Given the description of an element on the screen output the (x, y) to click on. 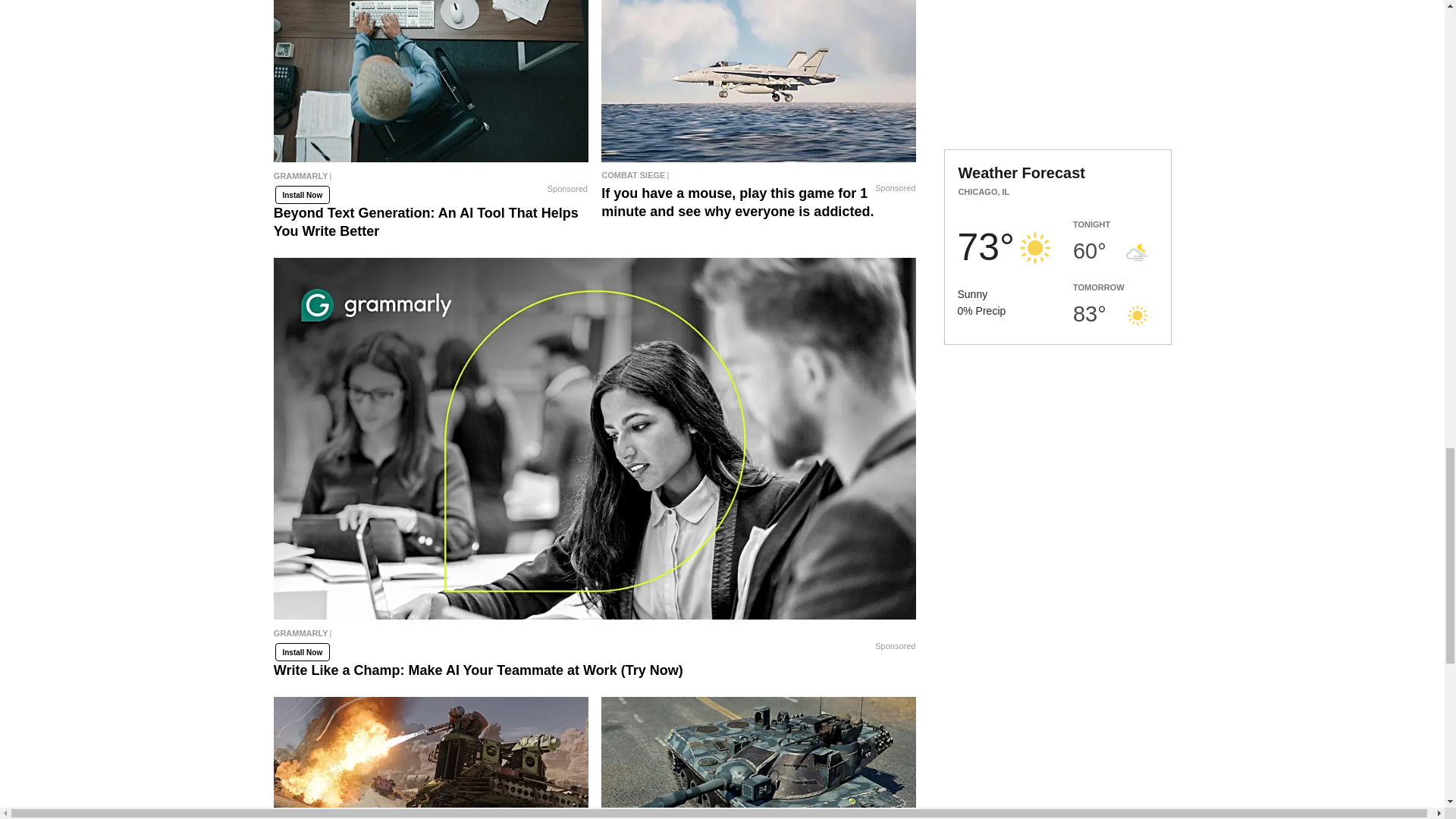
Sponsored (567, 189)
